Given the description of an element on the screen output the (x, y) to click on. 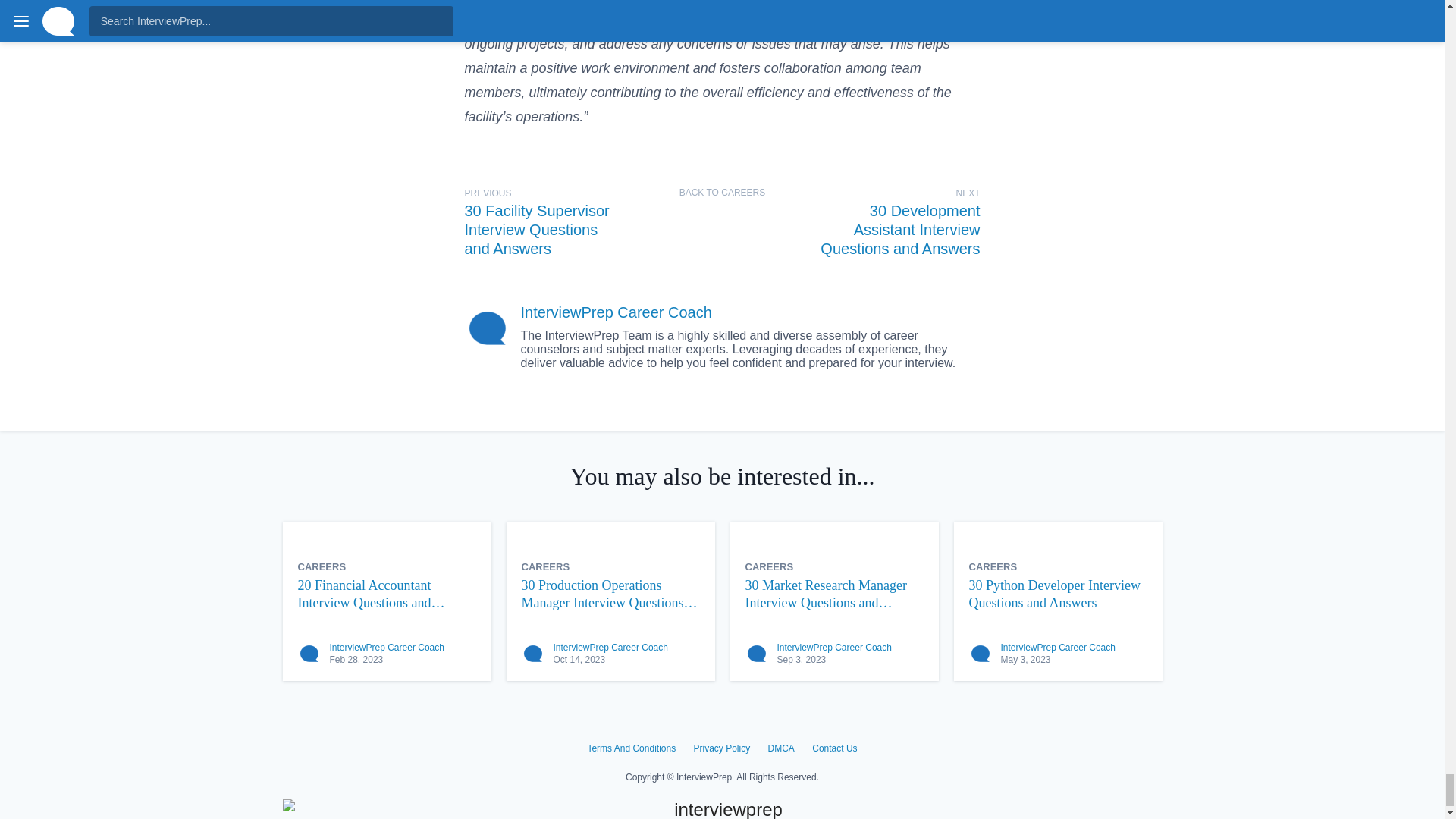
InterviewPrep Career Coach (386, 647)
DMCA (781, 747)
InterviewPrep Career Coach (1058, 647)
20 Financial Accountant Interview Questions and Answers (386, 593)
Contact Us (834, 747)
InterviewPrep Career Coach (610, 647)
Terms And Conditions (630, 747)
InterviewPrep Career Coach (833, 647)
CAREERS (545, 566)
InterviewPrep Career Coach (615, 312)
CAREERS (993, 566)
30 Python Developer Interview Questions and Answers (1058, 593)
